Given the description of an element on the screen output the (x, y) to click on. 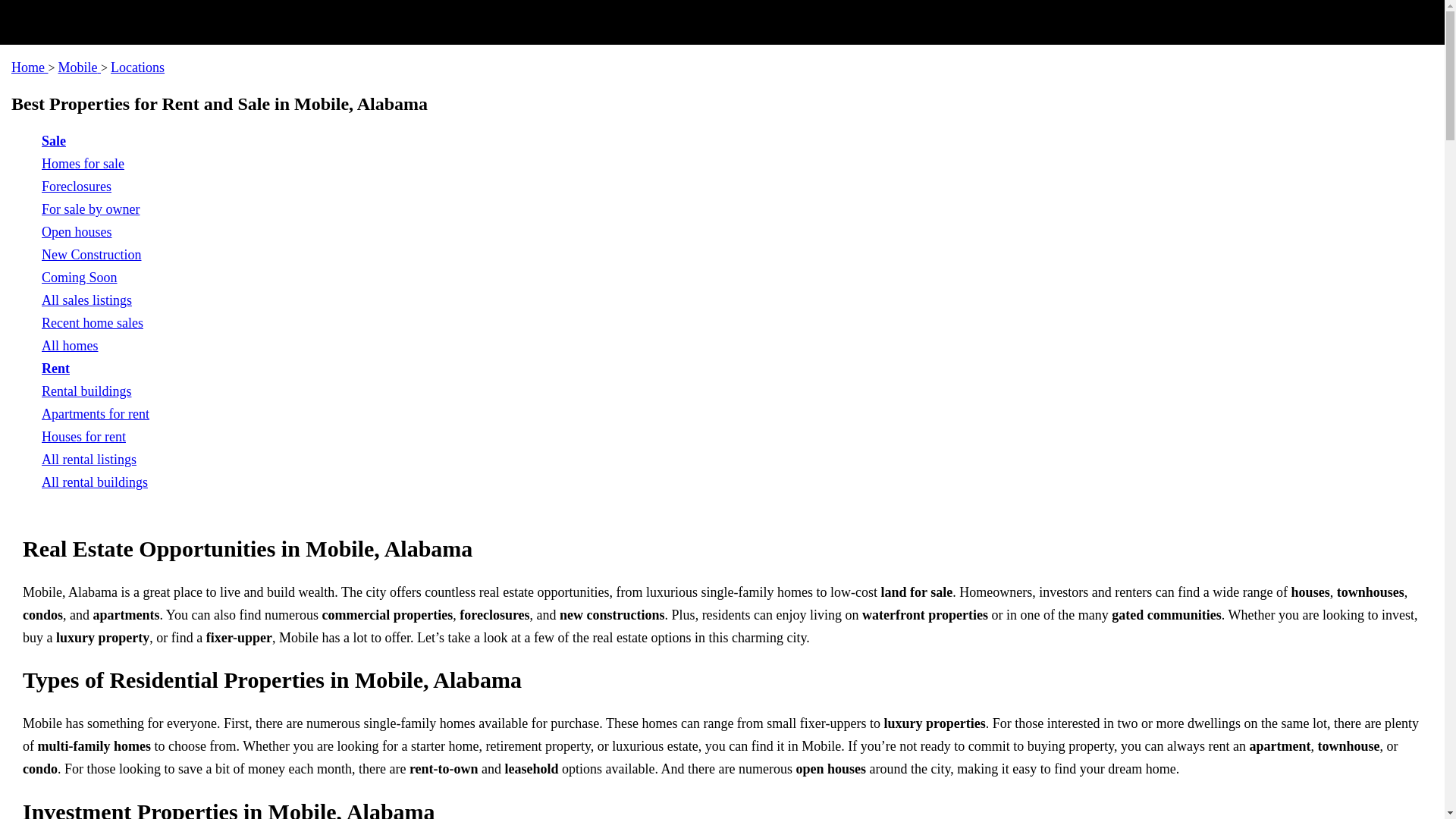
Rent (55, 368)
Open houses (77, 231)
All rental buildings (95, 482)
Houses for rent (83, 436)
Homes for sale (82, 163)
Foreclosures (77, 186)
All rental listings (89, 459)
Sale (53, 140)
New Construction (91, 254)
Coming Soon (79, 277)
